Given the description of an element on the screen output the (x, y) to click on. 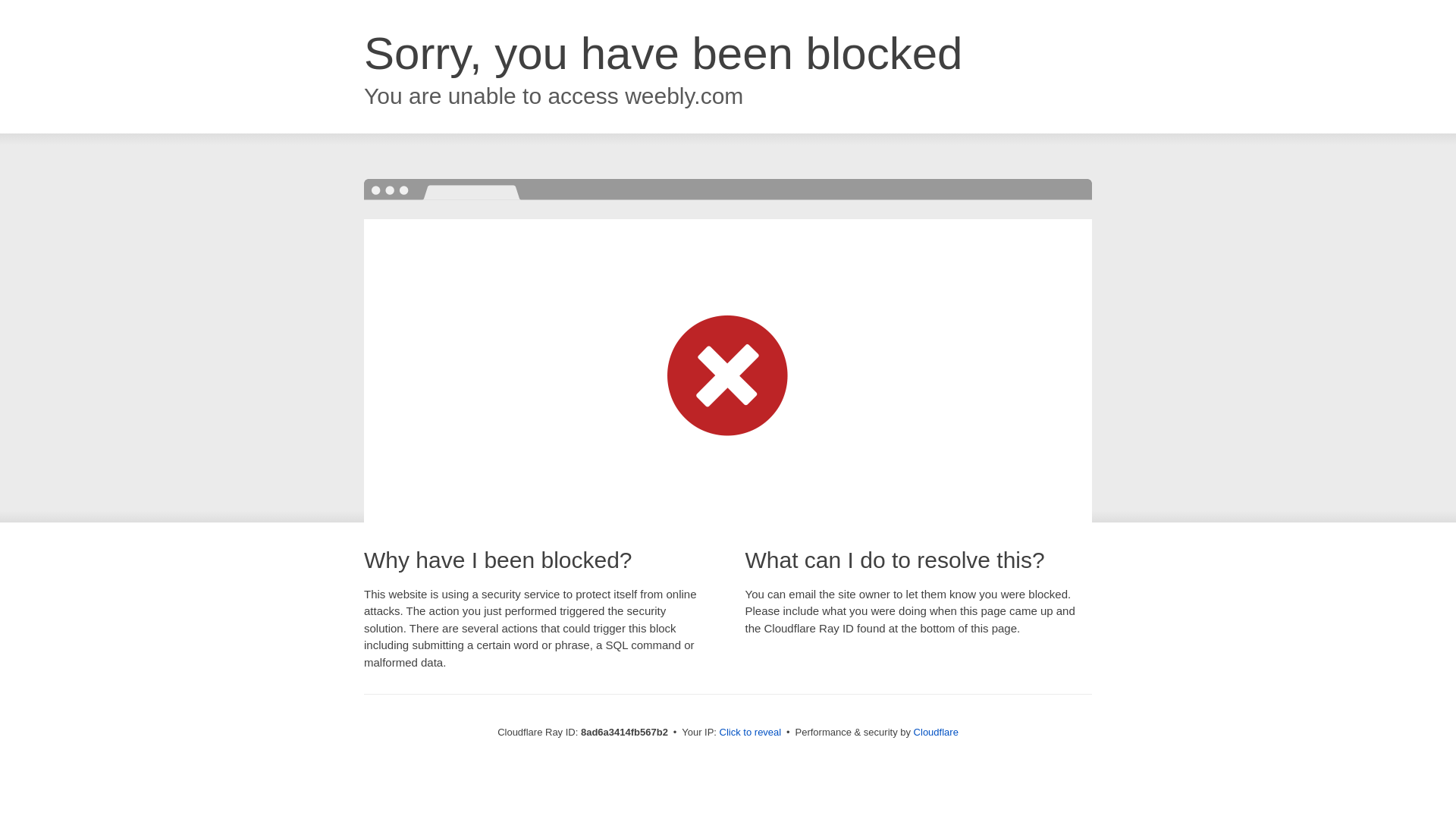
Click to reveal (750, 732)
Cloudflare (936, 731)
